Given the description of an element on the screen output the (x, y) to click on. 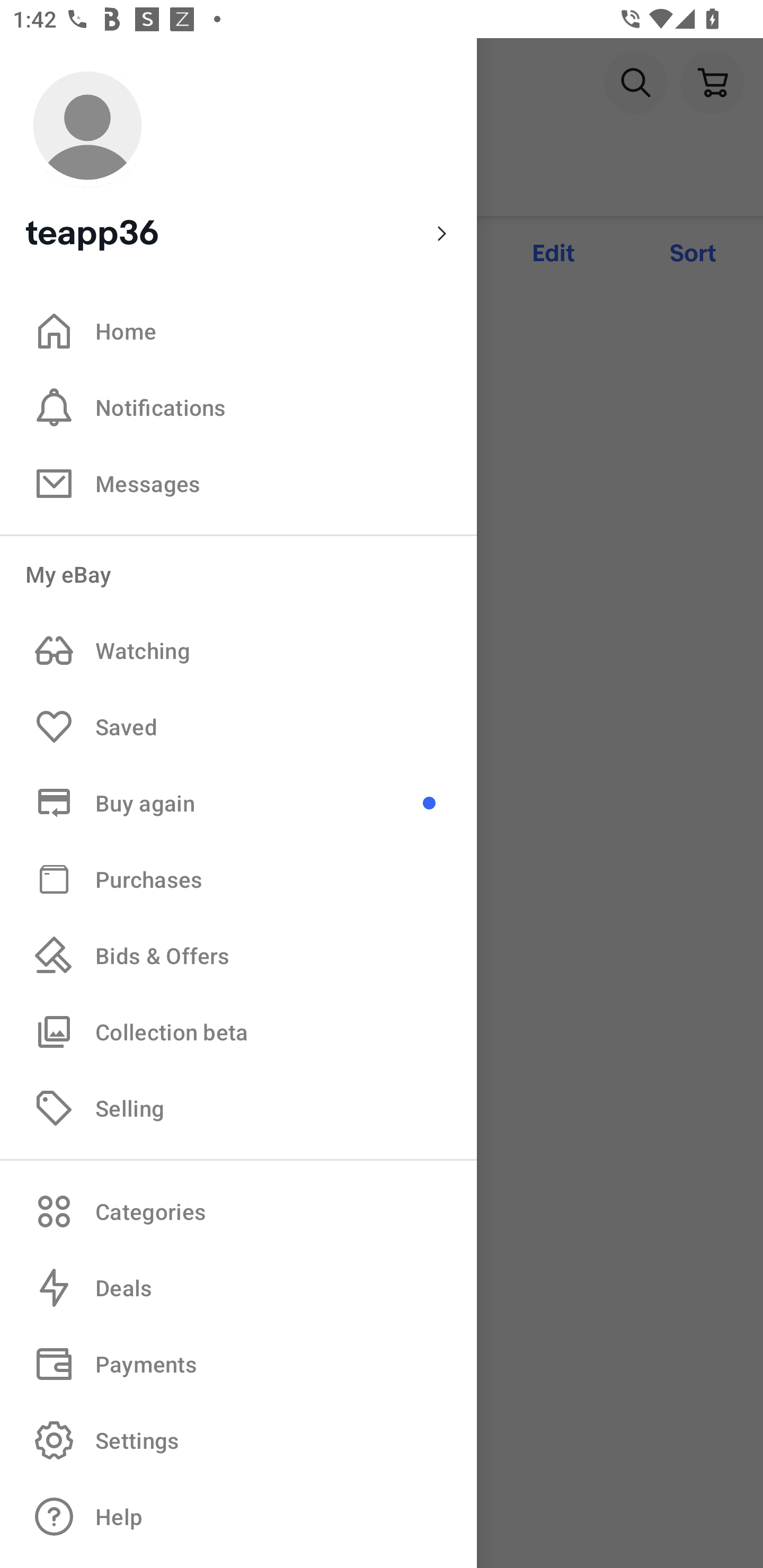
teapp36 (238, 158)
Home (238, 330)
Notifications (238, 406)
Messages (238, 483)
Watching (238, 650)
Saved (238, 726)
Buy again Is new feature (238, 802)
Purchases (238, 878)
Bids & Offers (238, 955)
Collection beta (238, 1031)
Selling (238, 1107)
Categories (238, 1210)
Deals (238, 1287)
Payments (238, 1363)
Settings (238, 1439)
Help (238, 1516)
